Given the description of an element on the screen output the (x, y) to click on. 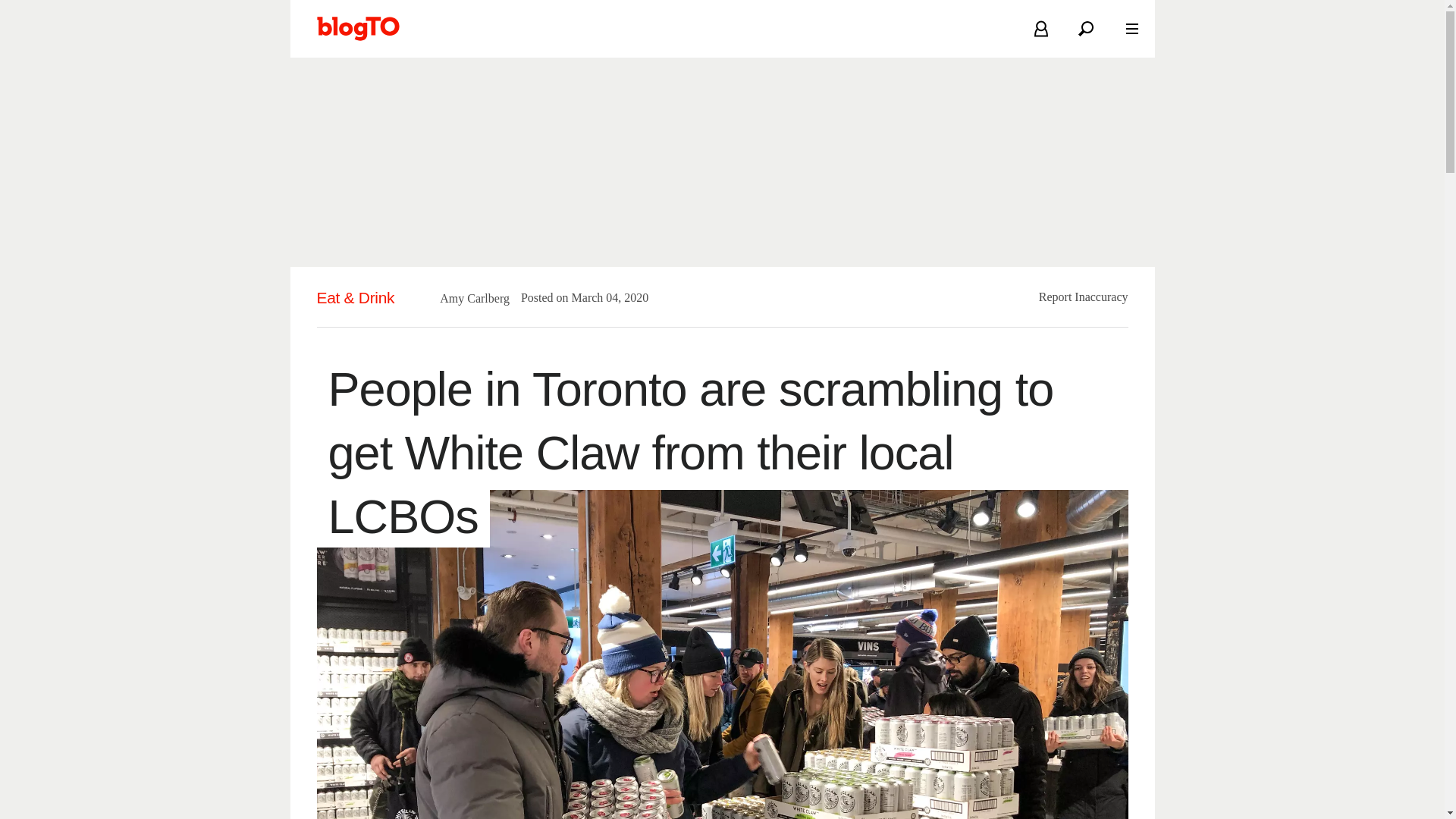
2020-03-04T15:27:13 (602, 297)
